Given the description of an element on the screen output the (x, y) to click on. 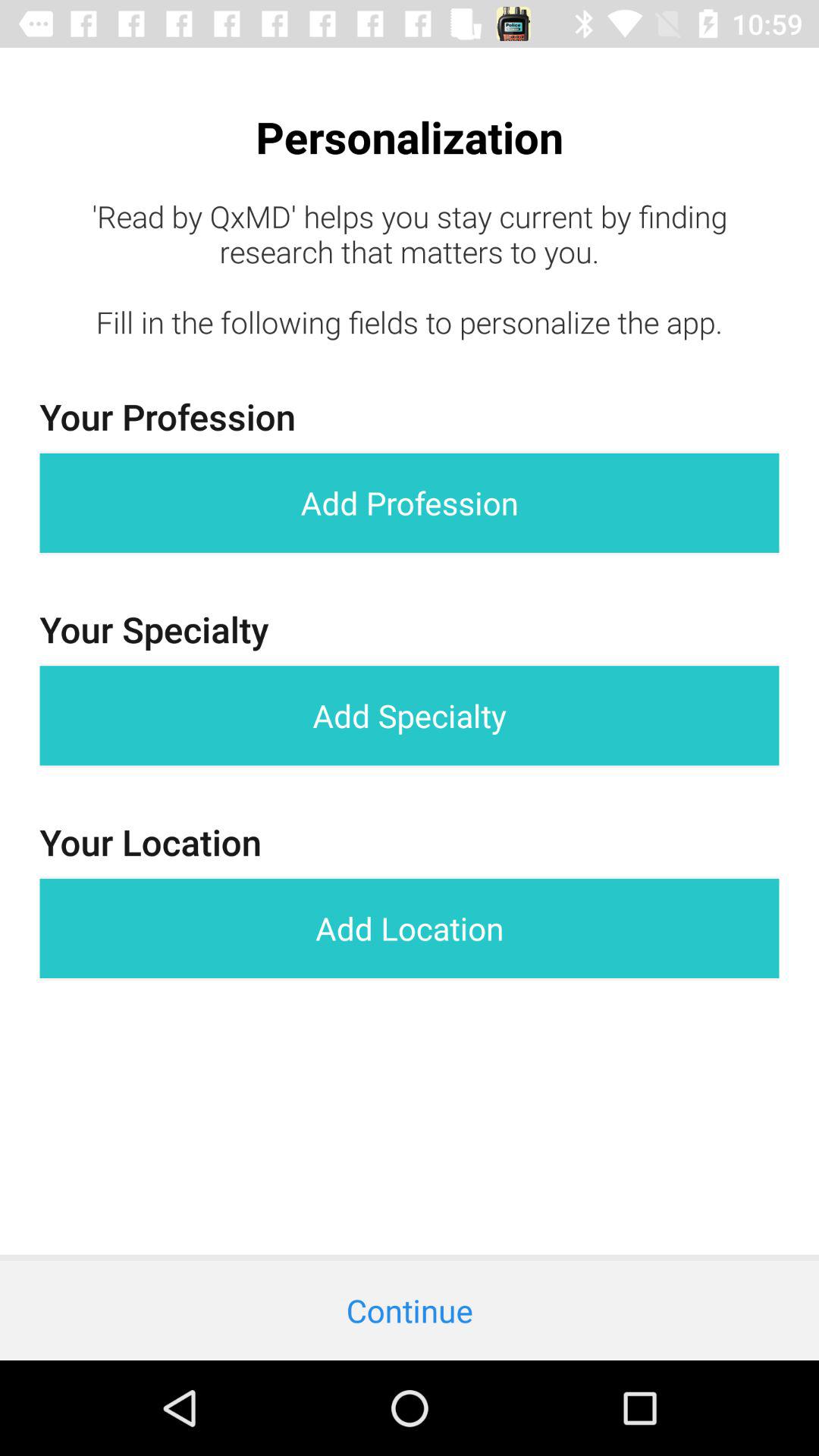
scroll to the continue (409, 1310)
